Given the description of an element on the screen output the (x, y) to click on. 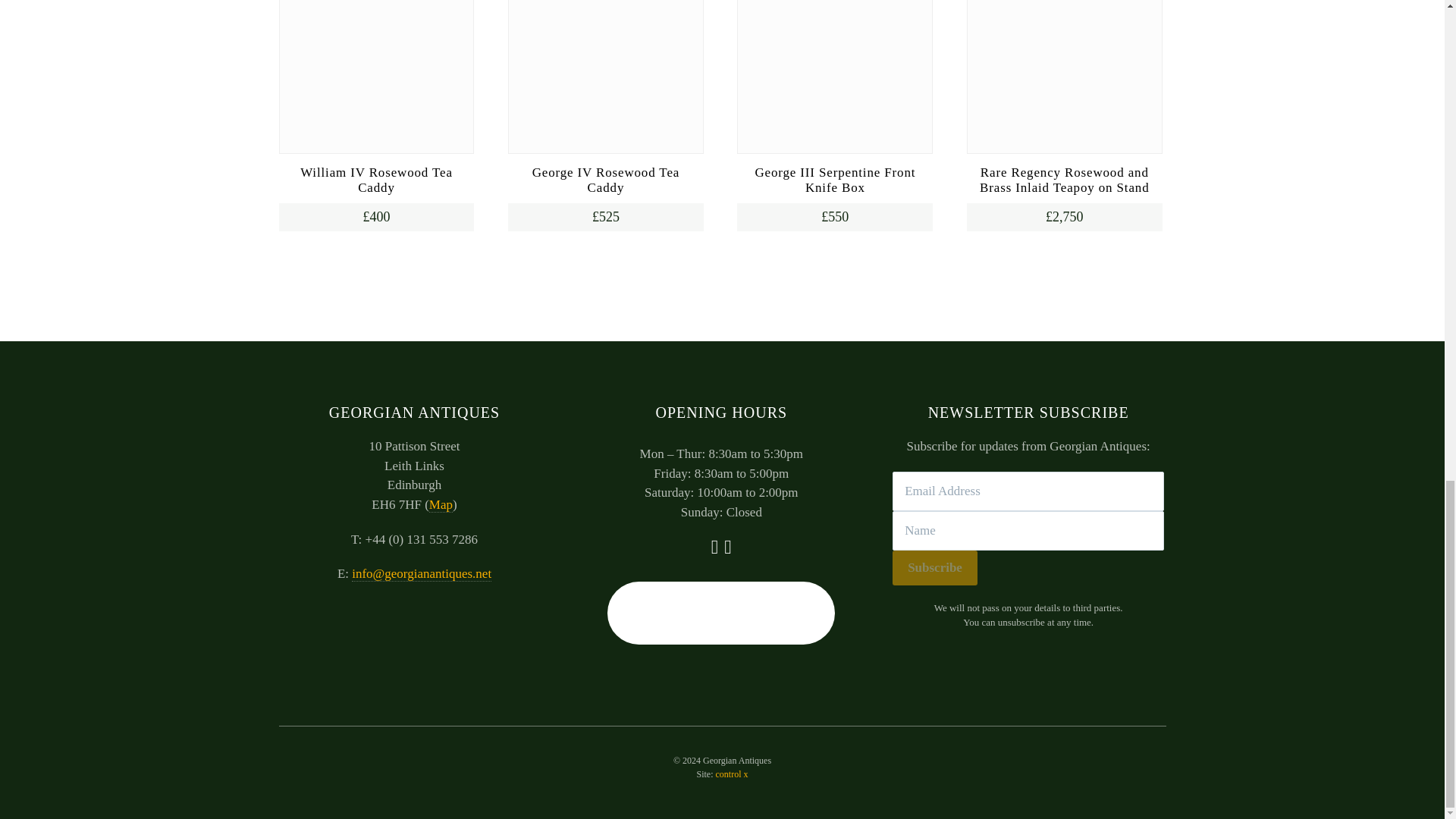
Members of LAPADA (720, 612)
Subscribe (934, 567)
